Given the description of an element on the screen output the (x, y) to click on. 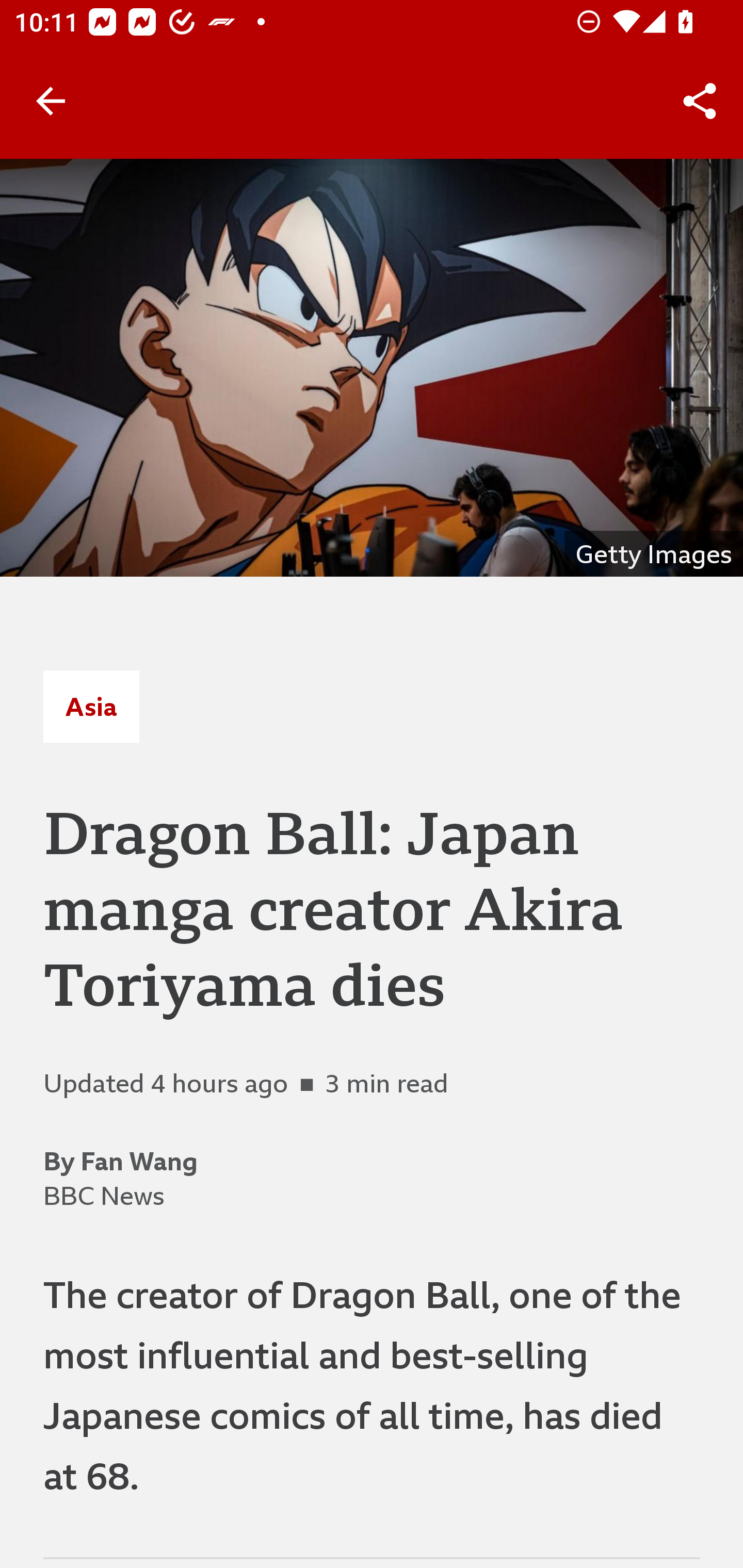
Back (50, 101)
Share (699, 101)
Asia (91, 706)
